Given the description of an element on the screen output the (x, y) to click on. 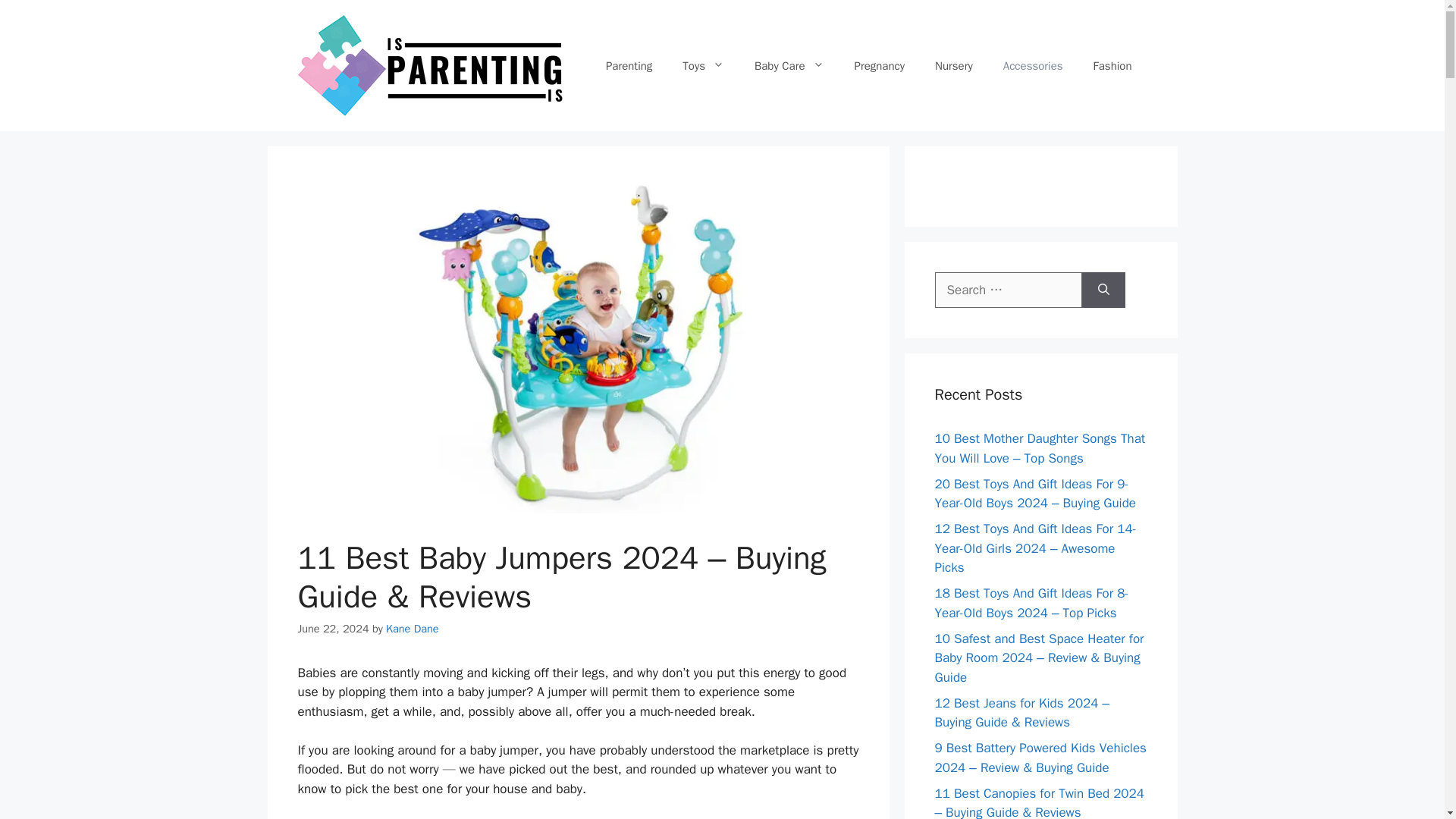
Baby Care (789, 64)
View all posts by Kane Dane (411, 628)
Fashion (1112, 64)
Search for: (1007, 289)
Nursery (954, 64)
Accessories (1033, 64)
Toys (702, 64)
Parenting (628, 64)
Kane Dane (411, 628)
Pregnancy (880, 64)
